Given the description of an element on the screen output the (x, y) to click on. 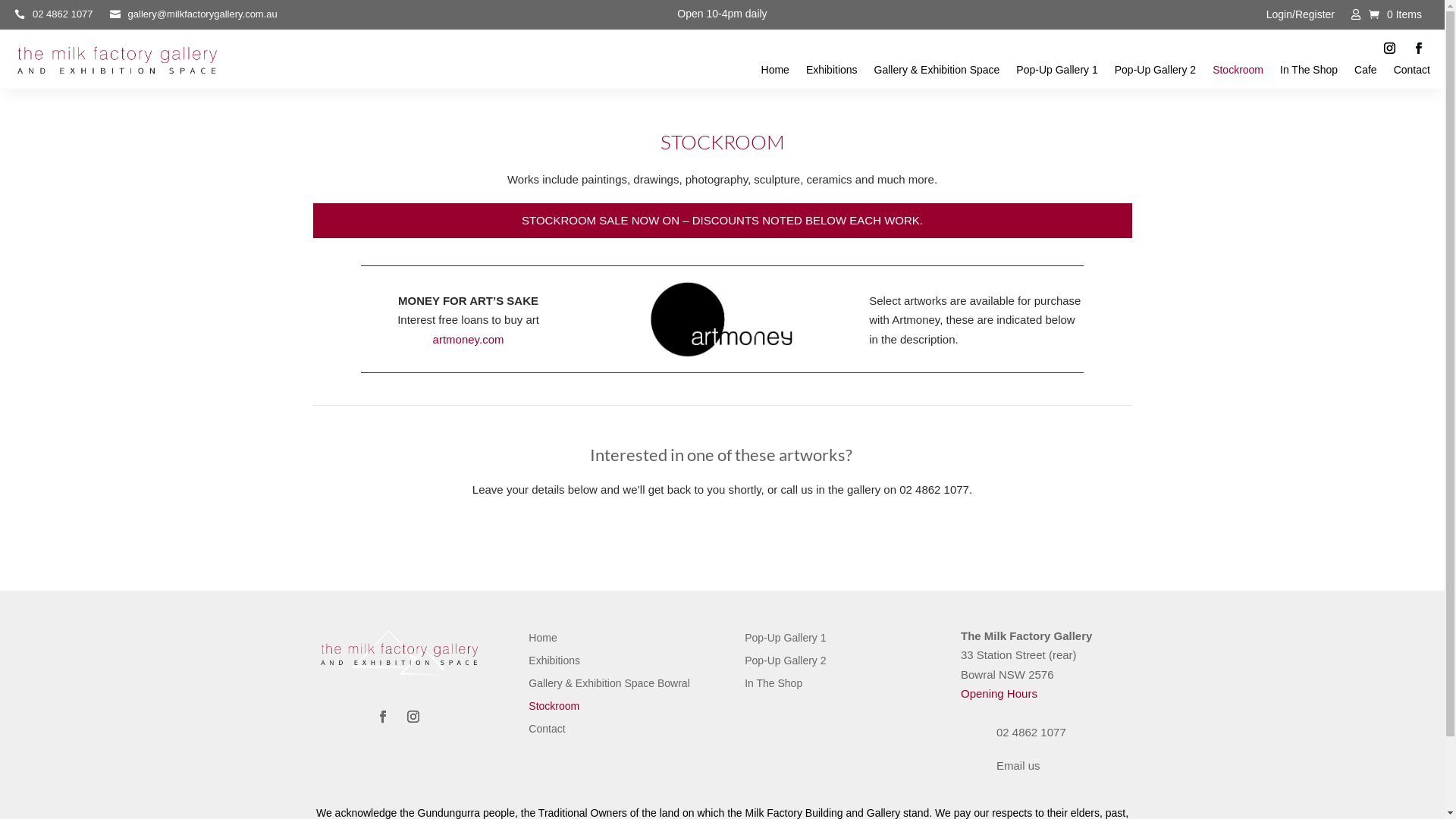
Follow on Facebook Element type: hover (1418, 48)
Stockroom Element type: text (553, 708)
Home Element type: text (775, 72)
logo-artmoney Element type: hover (721, 319)
Contact Element type: text (546, 731)
0 Items Element type: text (1394, 14)
Exhibitions Element type: text (831, 72)
Cafe Element type: text (1365, 72)
Home Element type: text (542, 640)
Stockroom Element type: text (1237, 72)
Pop-Up Gallery 1 Element type: text (784, 640)
Gallery & Exhibition Space Element type: text (937, 72)
artmoney.com Element type: text (468, 338)
In The Shop Element type: text (1308, 72)
Pop-Up Gallery 2 Element type: text (1154, 72)
Contact Element type: text (1411, 72)
Exhibitions Element type: text (554, 663)
Pop-Up Gallery 1 Element type: text (1056, 72)
logo-footer Element type: hover (397, 654)
In The Shop Element type: text (773, 685)
gallery@milkfactorygallery.com.au Element type: text (193, 17)
Opening Hours Element type: text (998, 693)
Follow on Facebook Element type: hover (382, 716)
Gallery & Exhibition Space Bowral Element type: text (608, 685)
Email us Element type: text (1018, 765)
Milk Factory Gallery Bowral Element type: hover (116, 61)
02 4862 1077 Element type: text (53, 17)
Follow on Instagram Element type: hover (413, 716)
Follow on Instagram Element type: hover (1389, 48)
Pop-Up Gallery 2 Element type: text (784, 663)
Login/Register Element type: text (1300, 17)
